Given the description of an element on the screen output the (x, y) to click on. 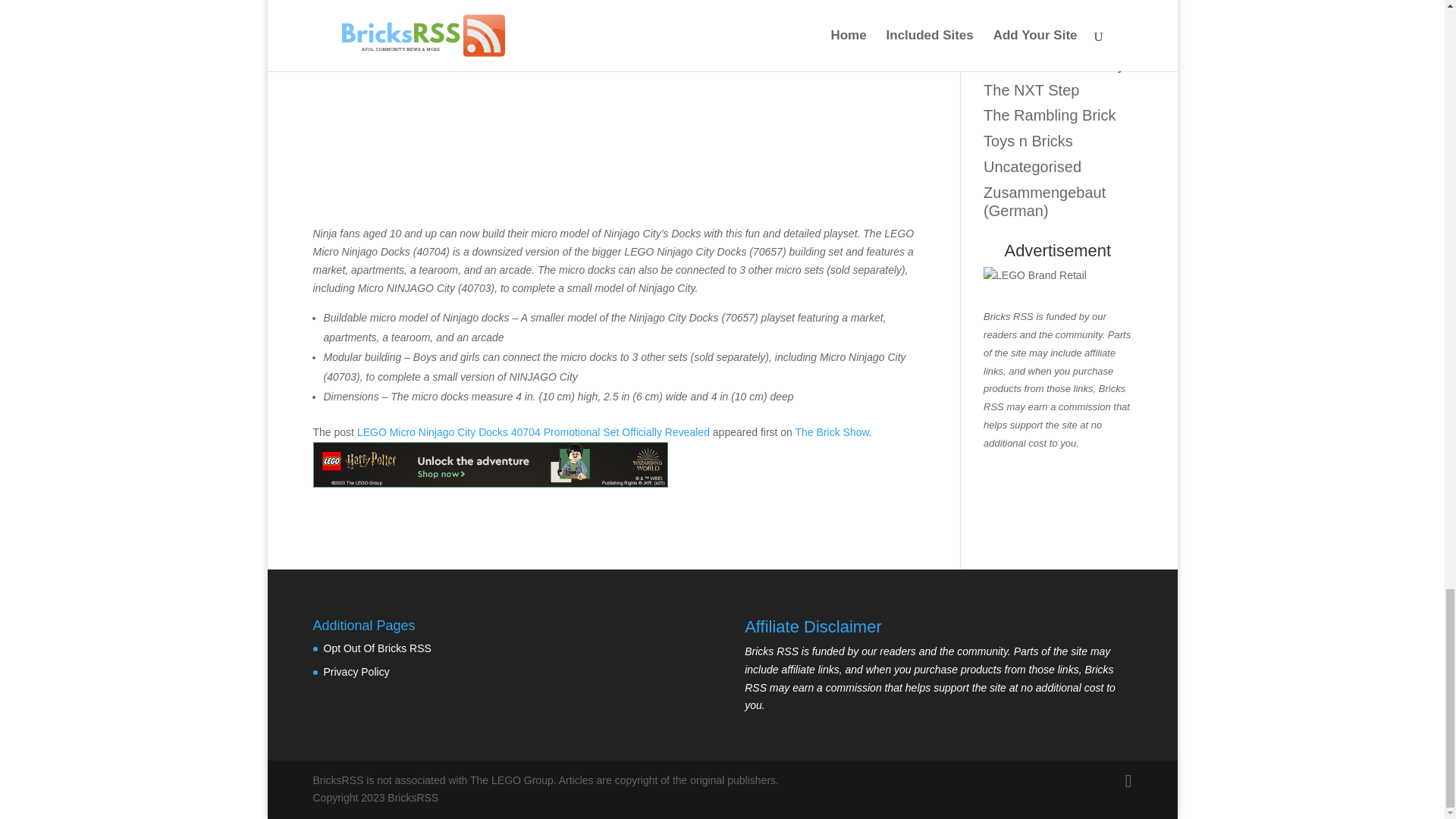
The Brick Show (831, 431)
